Given the description of an element on the screen output the (x, y) to click on. 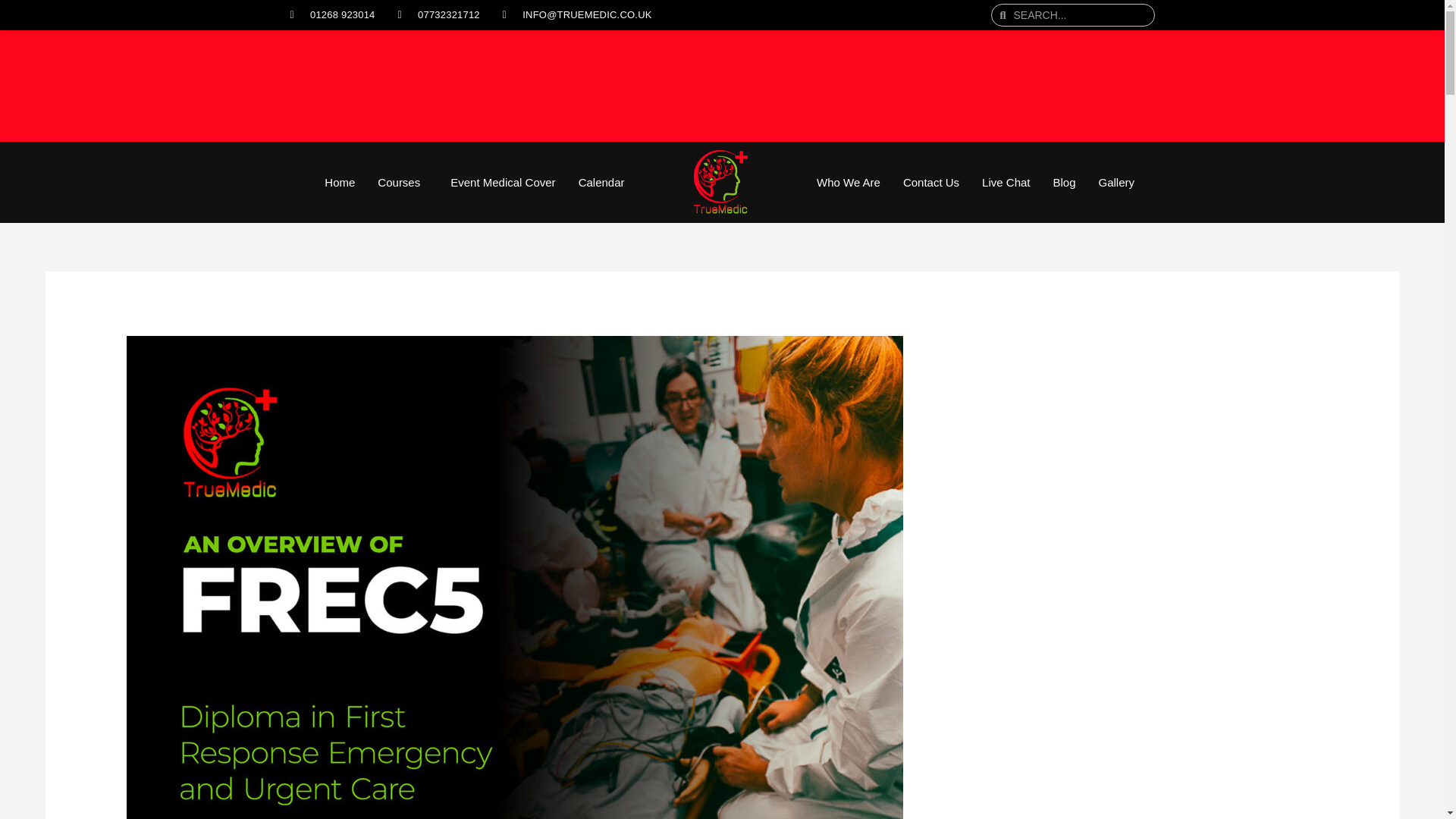
Blog (1063, 182)
Live Chat (1006, 182)
Courses (402, 182)
01268 923014 (331, 14)
Gallery (1117, 182)
Calendar (601, 182)
Who We Are (848, 182)
Contact Us (931, 182)
Home (339, 182)
Event Medical Cover (502, 182)
